Given the description of an element on the screen output the (x, y) to click on. 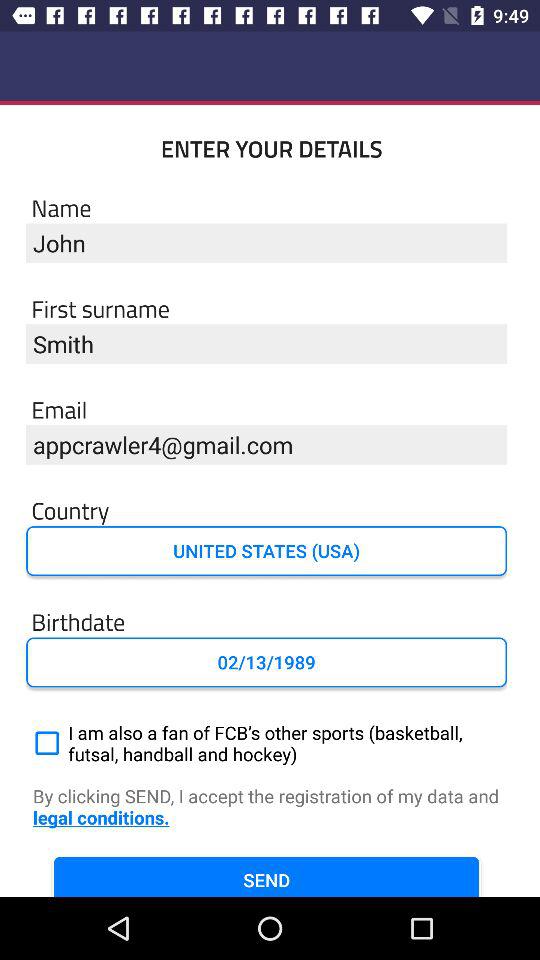
jump to the 02/13/1989 (266, 662)
